Given the description of an element on the screen output the (x, y) to click on. 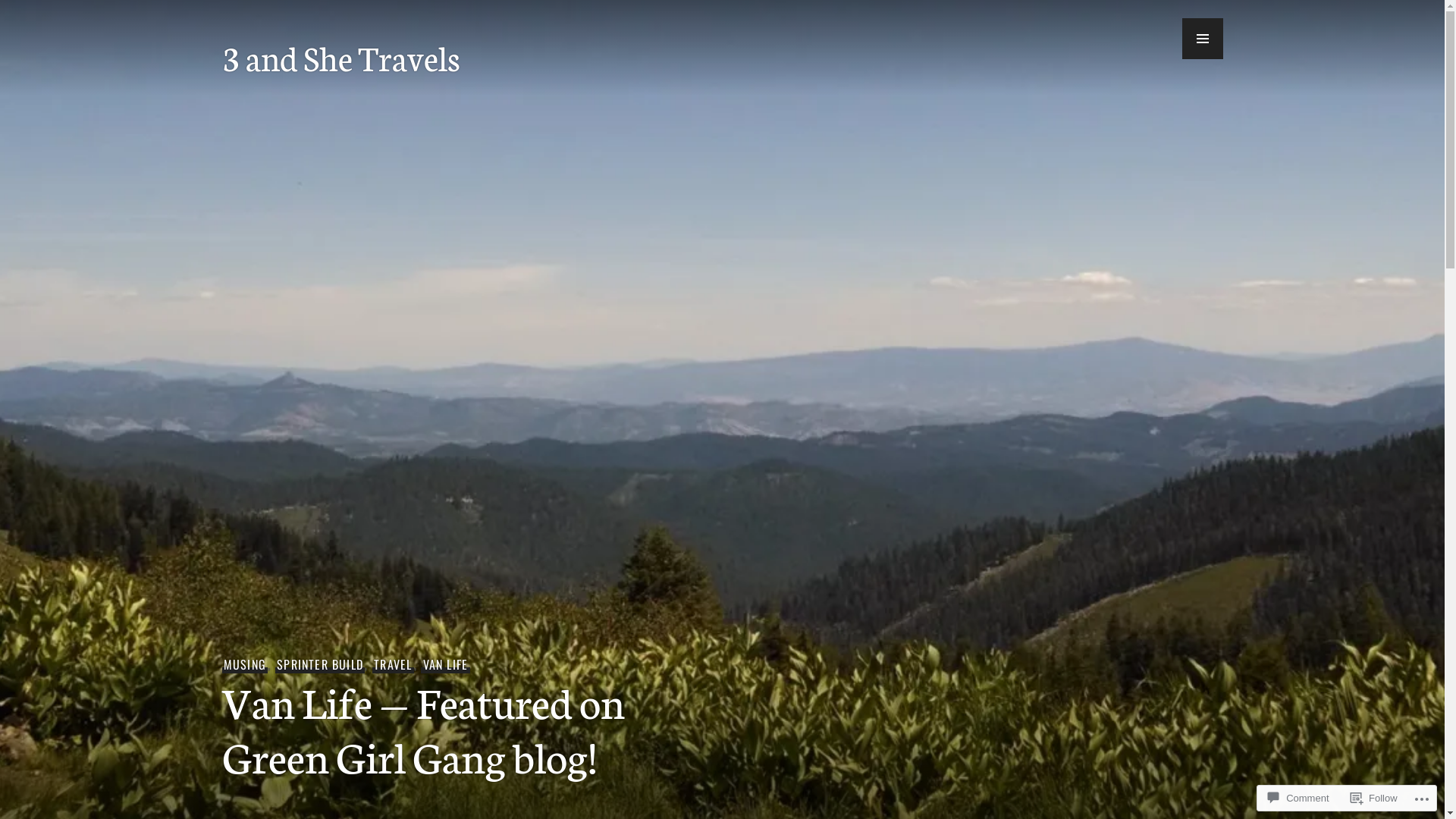
VAN LIFE Element type: text (444, 664)
Comment Element type: text (1297, 797)
TRAVEL Element type: text (393, 664)
SPRINTER BUILD Element type: text (320, 664)
3 and She Travels Element type: text (340, 56)
Follow Element type: text (1373, 797)
MUSING Element type: text (244, 664)
